Given the description of an element on the screen output the (x, y) to click on. 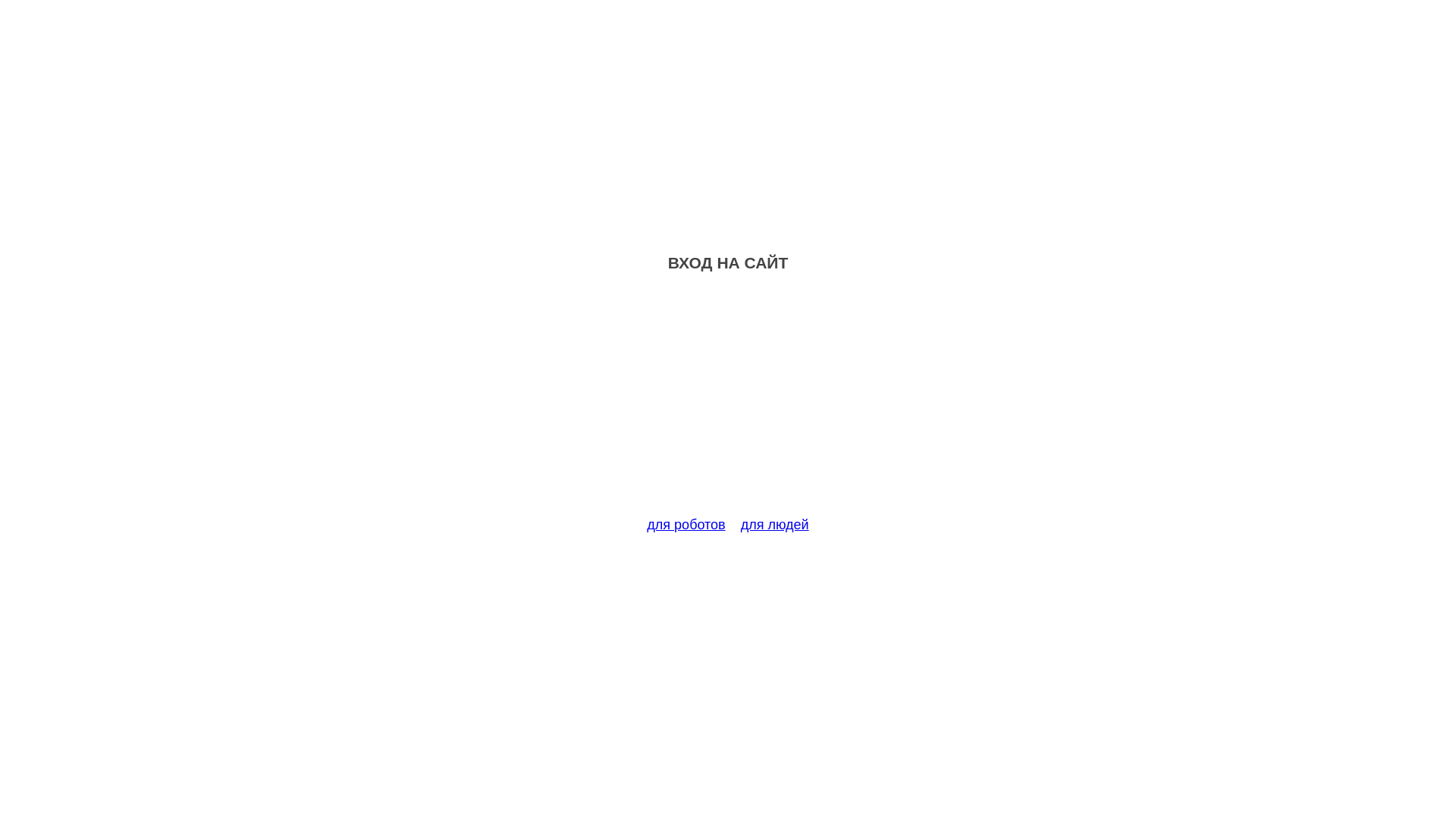
Advertisement Element type: hover (727, 403)
